Given the description of an element on the screen output the (x, y) to click on. 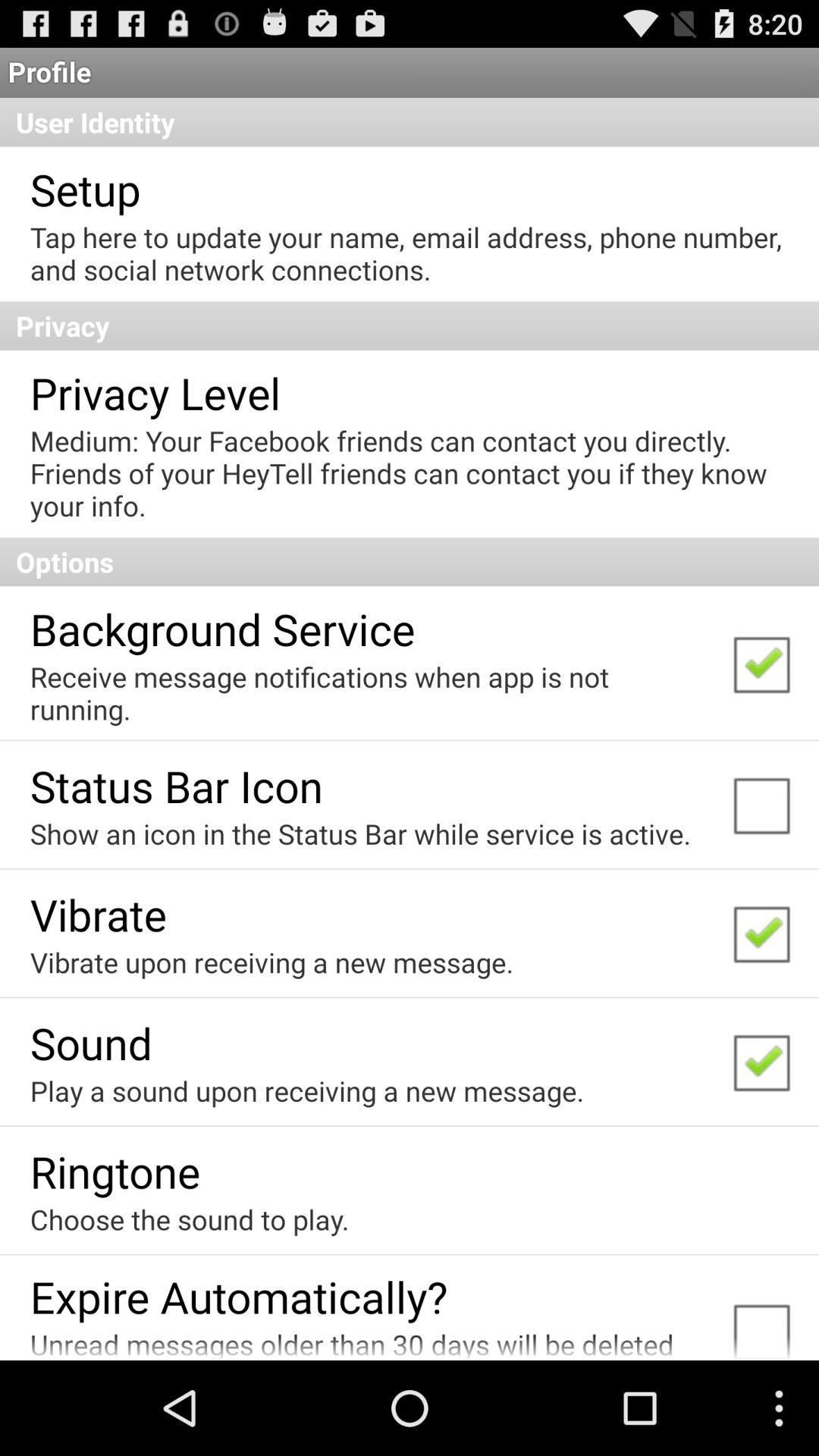
flip to expire automatically? app (238, 1296)
